Given the description of an element on the screen output the (x, y) to click on. 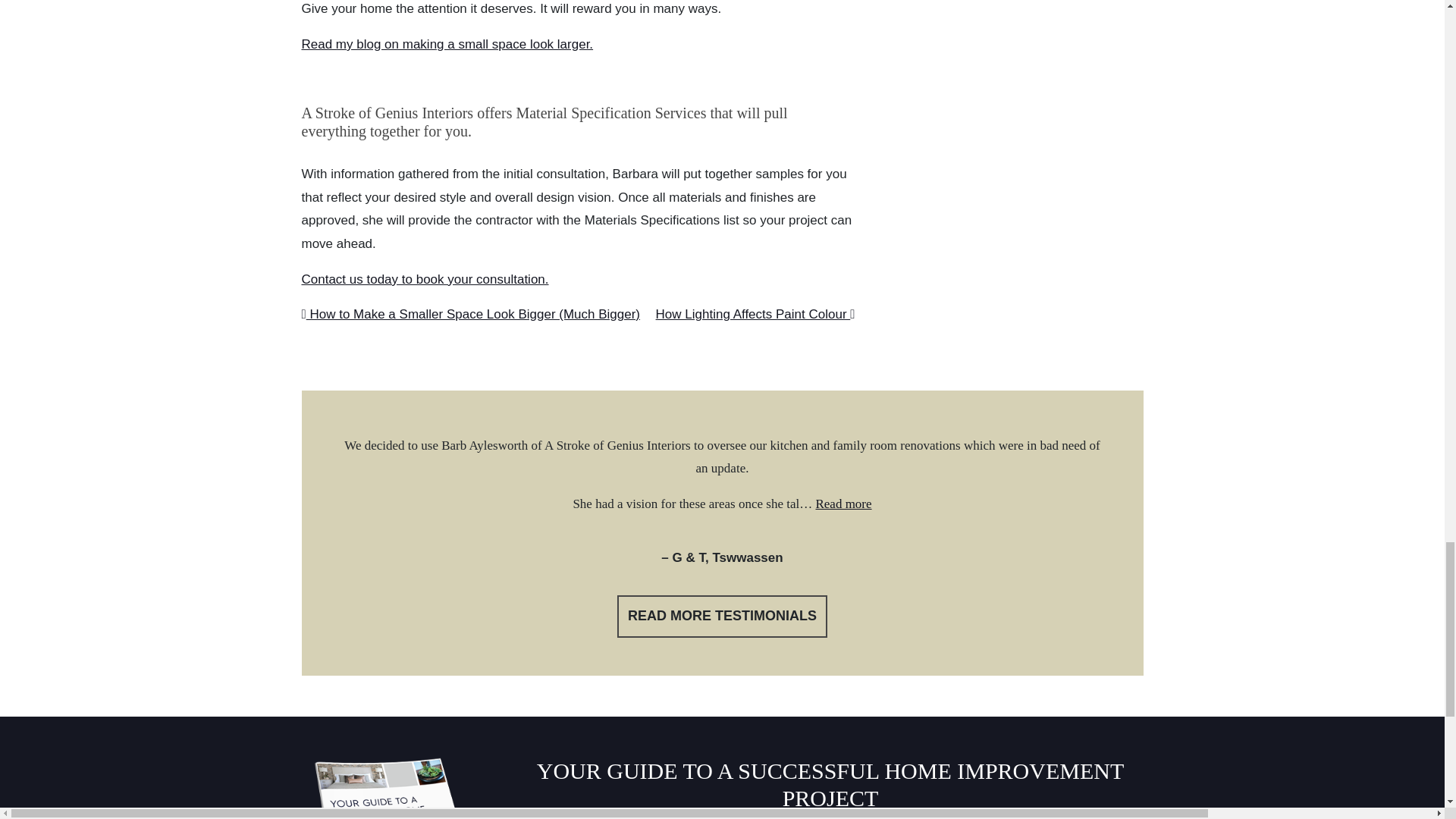
Read my blog on making a small space look larger. (447, 43)
How Lighting Affects Paint Colour  (756, 314)
Contact us today to book your consultation. (424, 278)
